Given the description of an element on the screen output the (x, y) to click on. 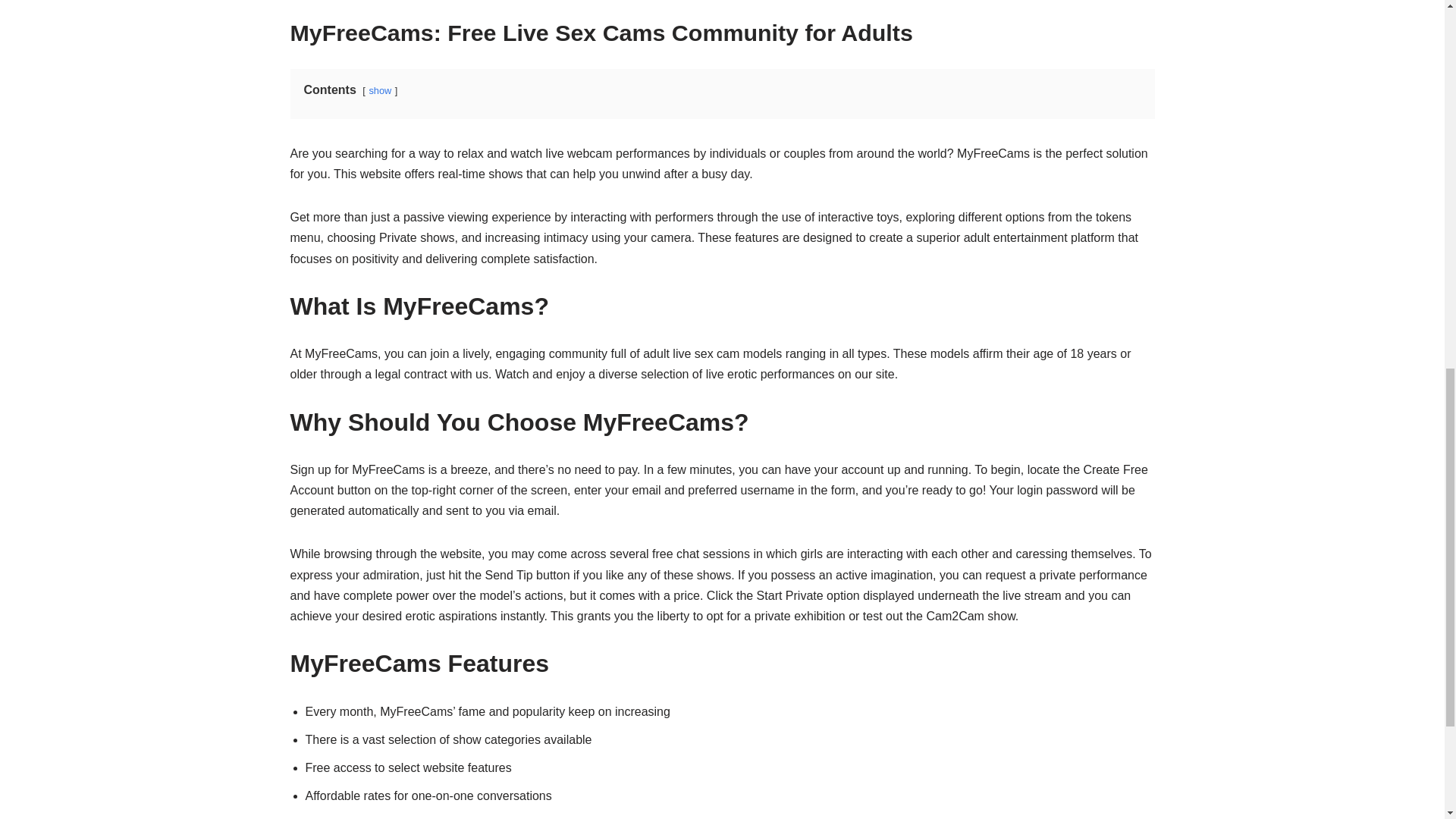
show (379, 90)
